Given the description of an element on the screen output the (x, y) to click on. 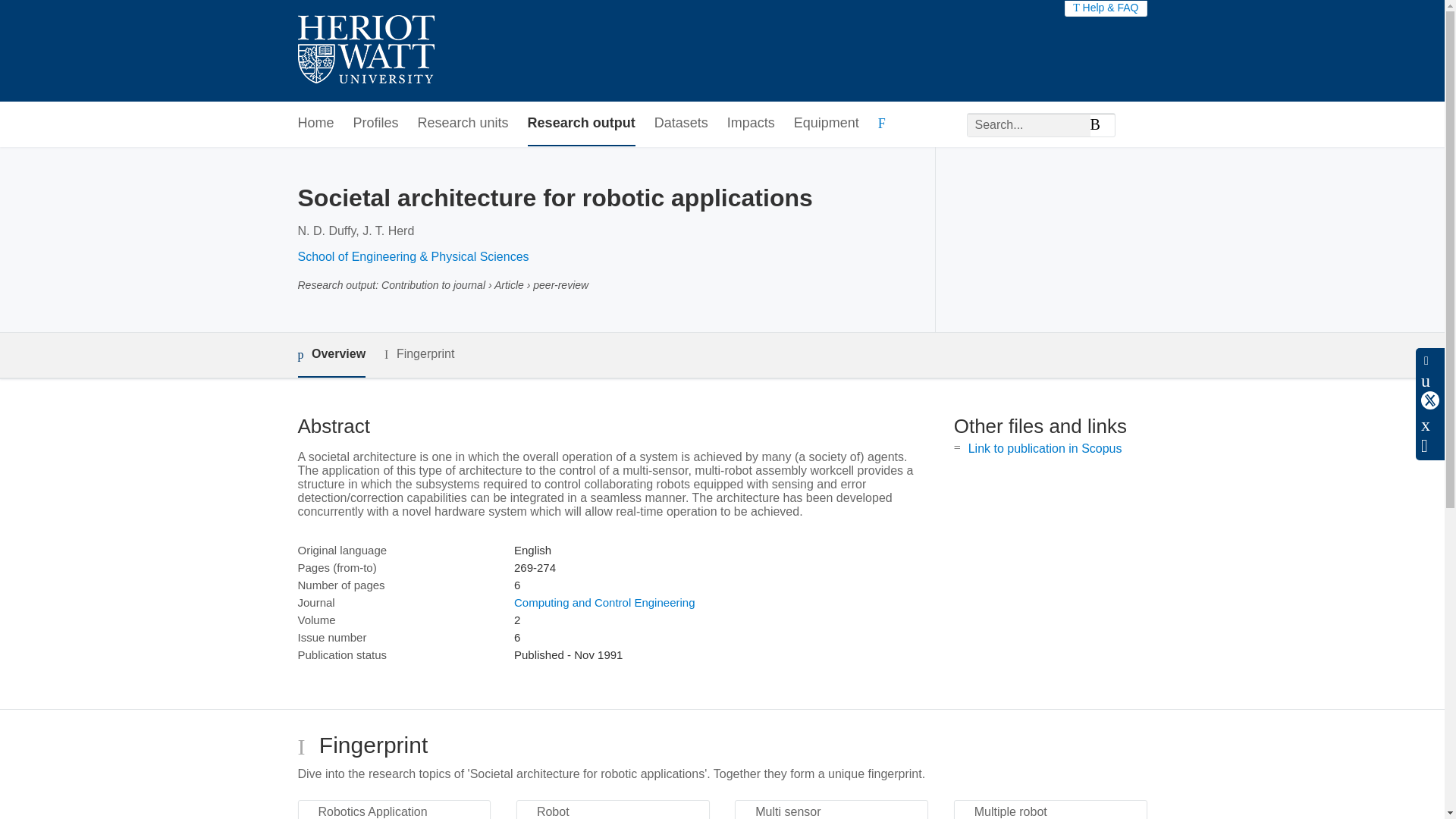
Datasets (680, 123)
Link to publication in Scopus (1045, 448)
Research output (580, 123)
Impacts (750, 123)
Fingerprint (419, 353)
Research units (462, 123)
Computing and Control Engineering (603, 602)
Equipment (826, 123)
Heriot-Watt Research Portal Home (365, 50)
Overview (331, 354)
Profiles (375, 123)
